Given the description of an element on the screen output the (x, y) to click on. 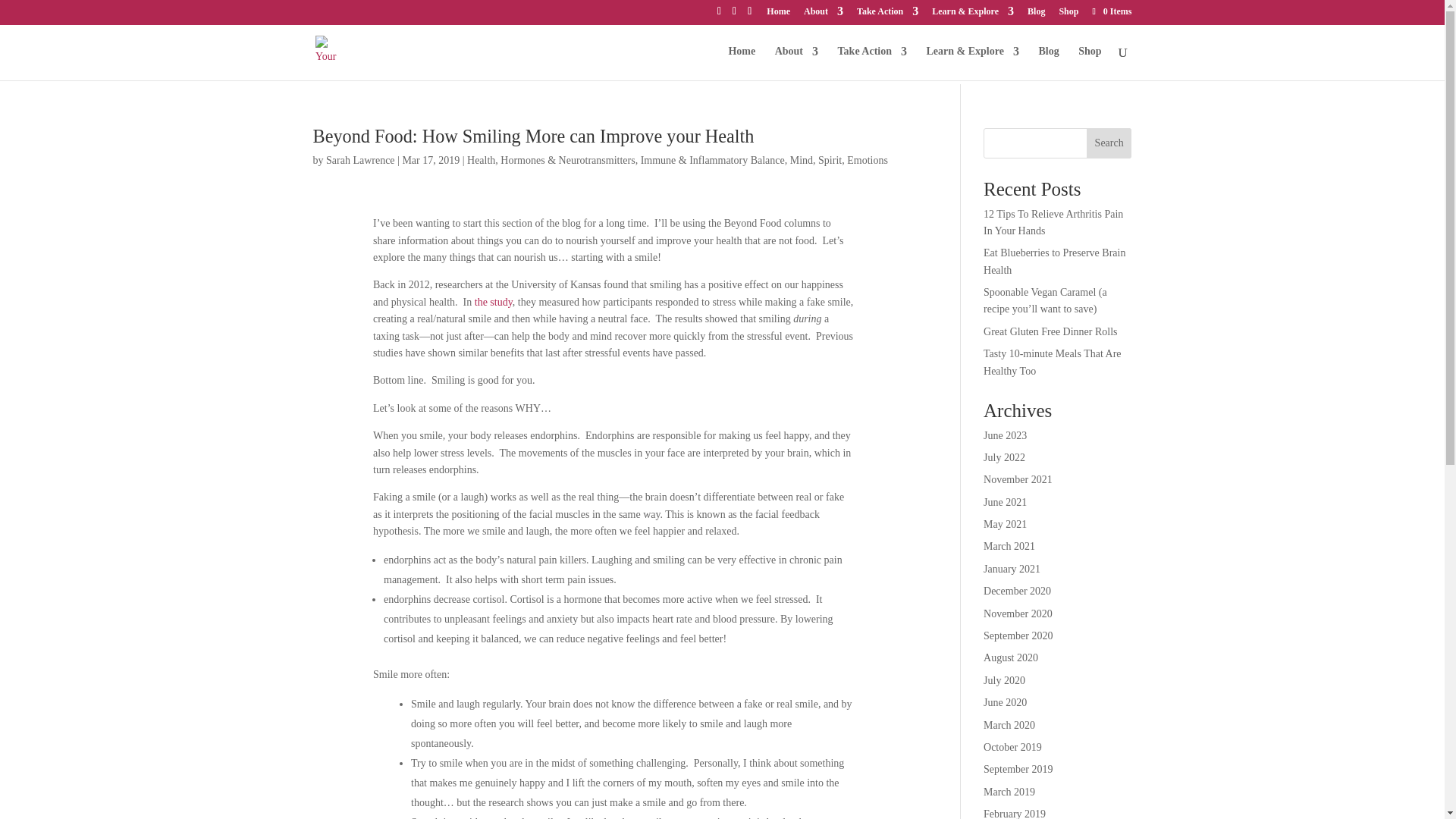
Take Action (872, 62)
Take Action (887, 14)
Sarah Lawrence (360, 160)
Search (1109, 142)
Blog (1036, 14)
Posts by Sarah Lawrence (360, 160)
About (823, 14)
Mind, Spirit, Emotions (839, 160)
Health (481, 160)
the study (493, 301)
